Given the description of an element on the screen output the (x, y) to click on. 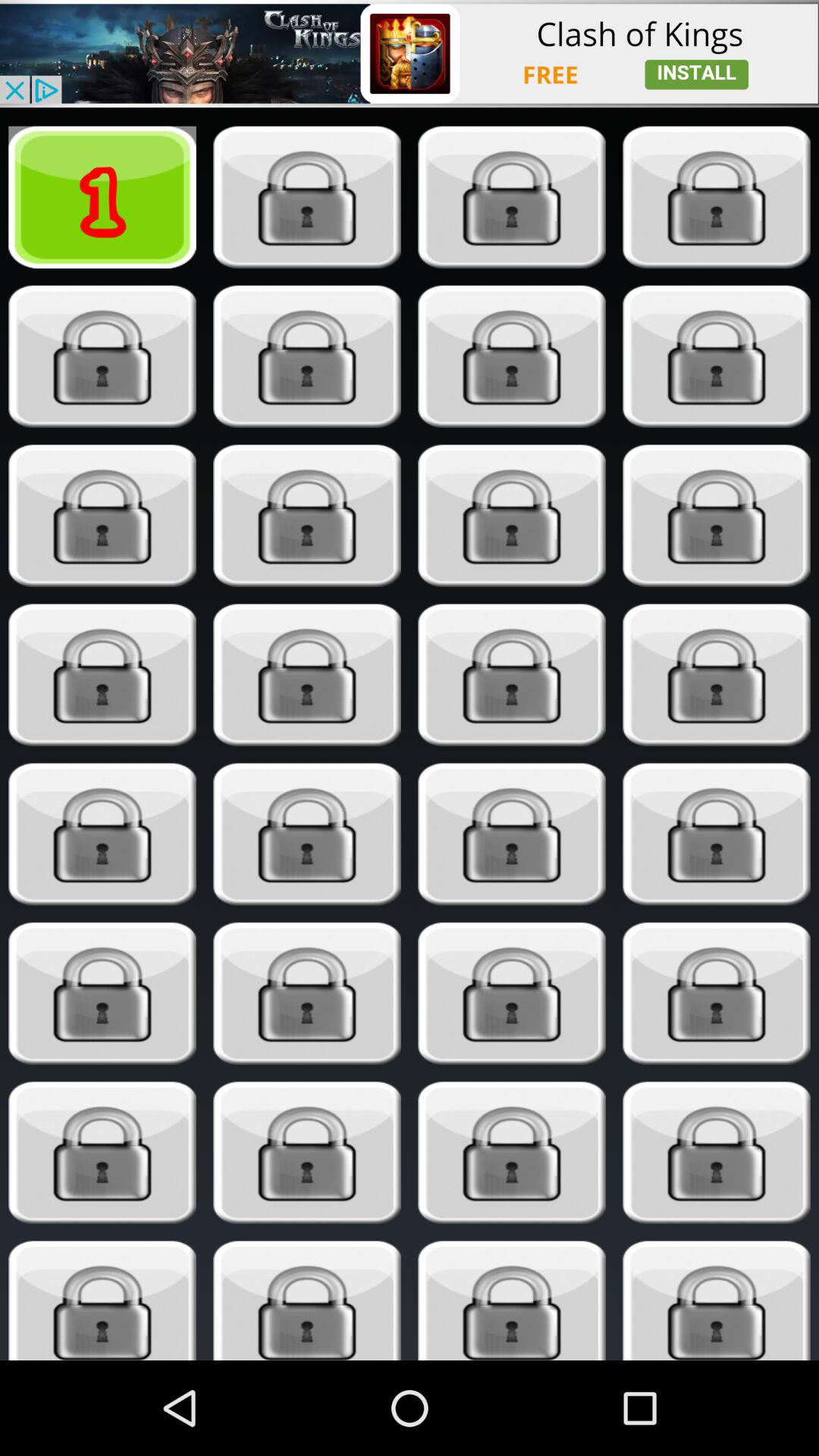
level locked (716, 675)
